Given the description of an element on the screen output the (x, y) to click on. 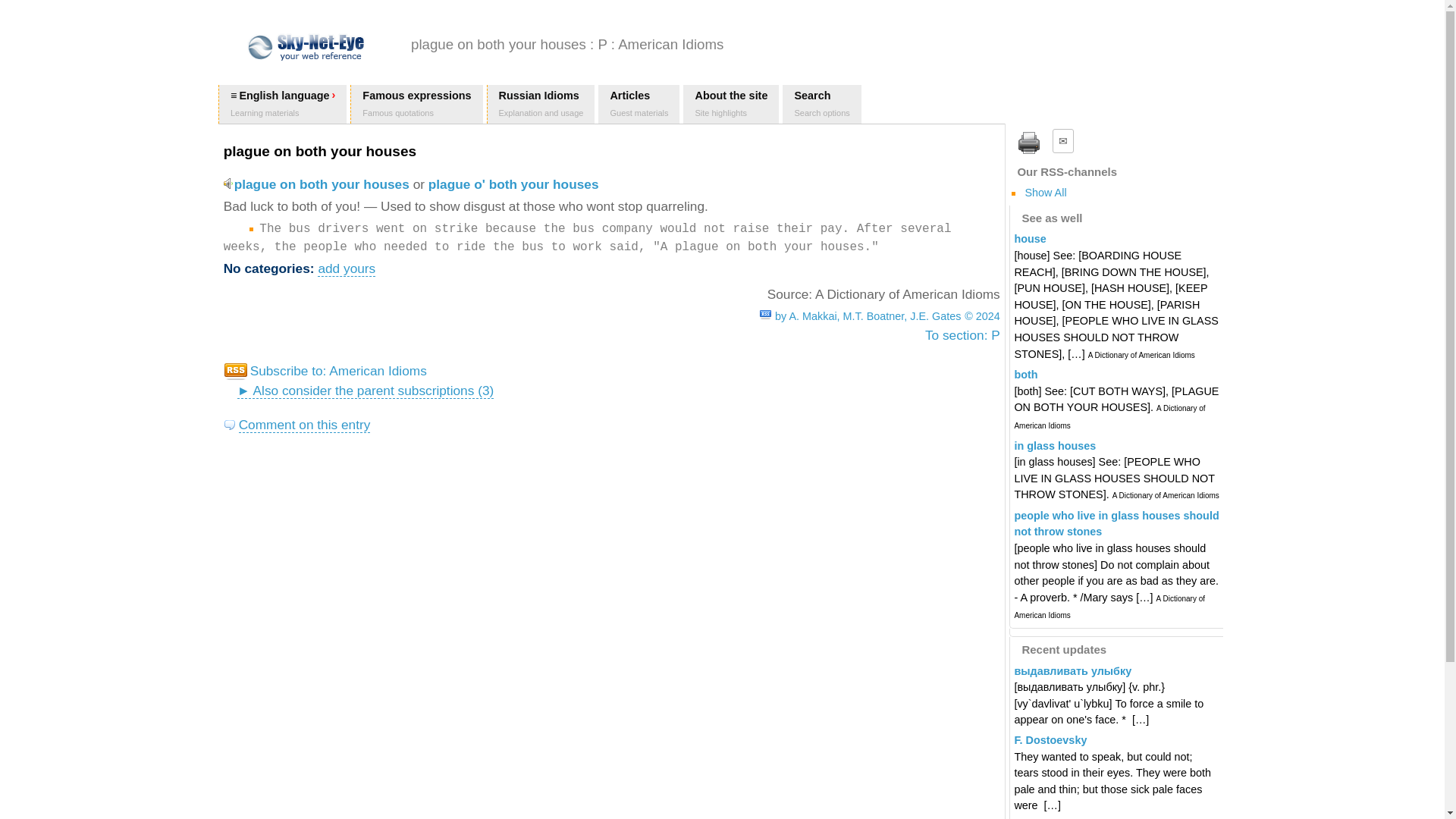
sky-net-eye.com - Your web-reference! (821, 104)
